Given the description of an element on the screen output the (x, y) to click on. 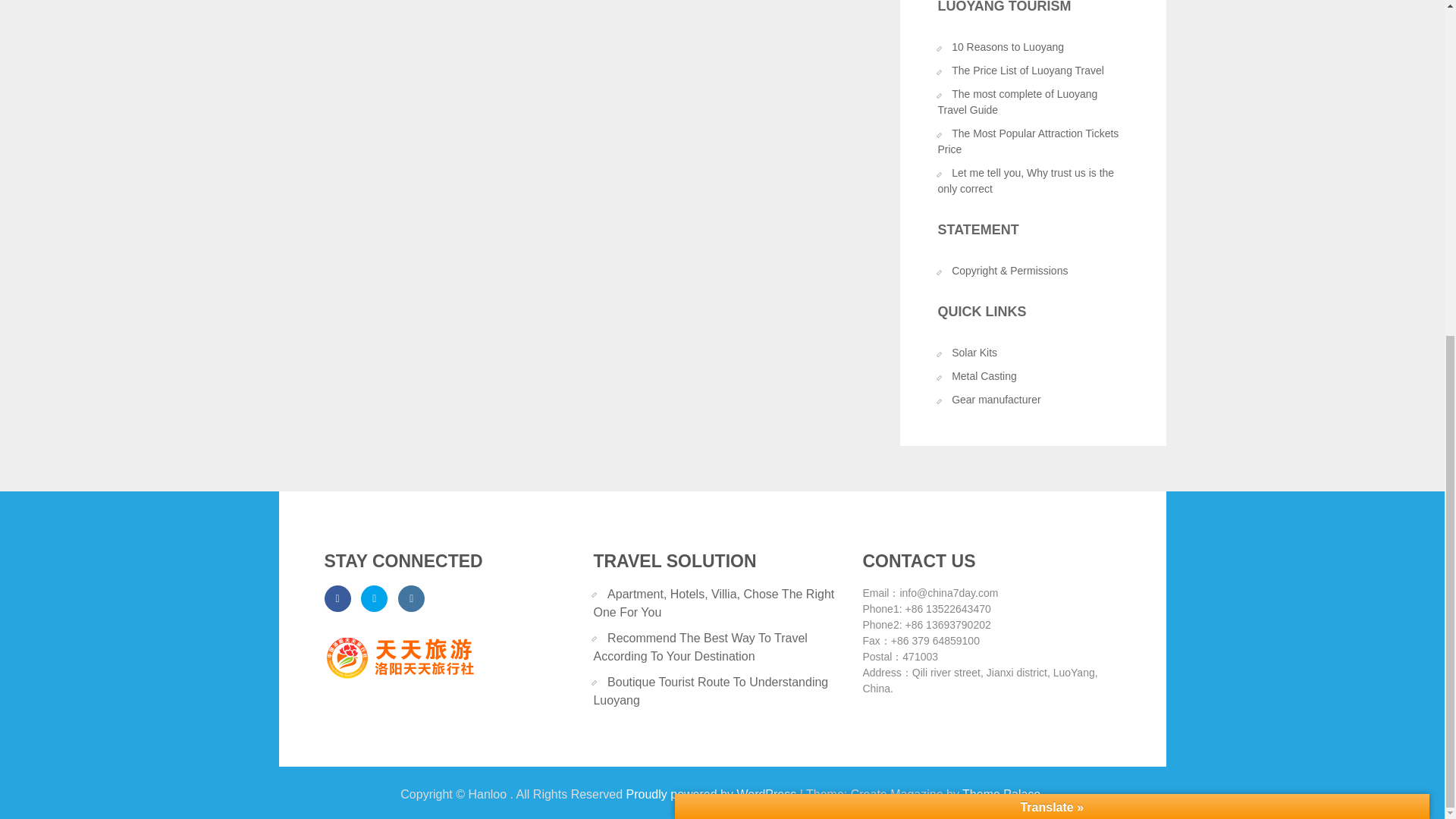
The Most Popular Attraction Tickets Price (1027, 141)
Gear manufacturer (996, 399)
Solar Kits (974, 352)
The most complete of Luoyang Travel Guide (1017, 101)
10 Reasons to Luoyang (1008, 46)
Let me tell you, Why trust us is the only correct (1025, 180)
Metal Casting (984, 376)
The Price List of Luoyang Travel (1027, 70)
